Given the description of an element on the screen output the (x, y) to click on. 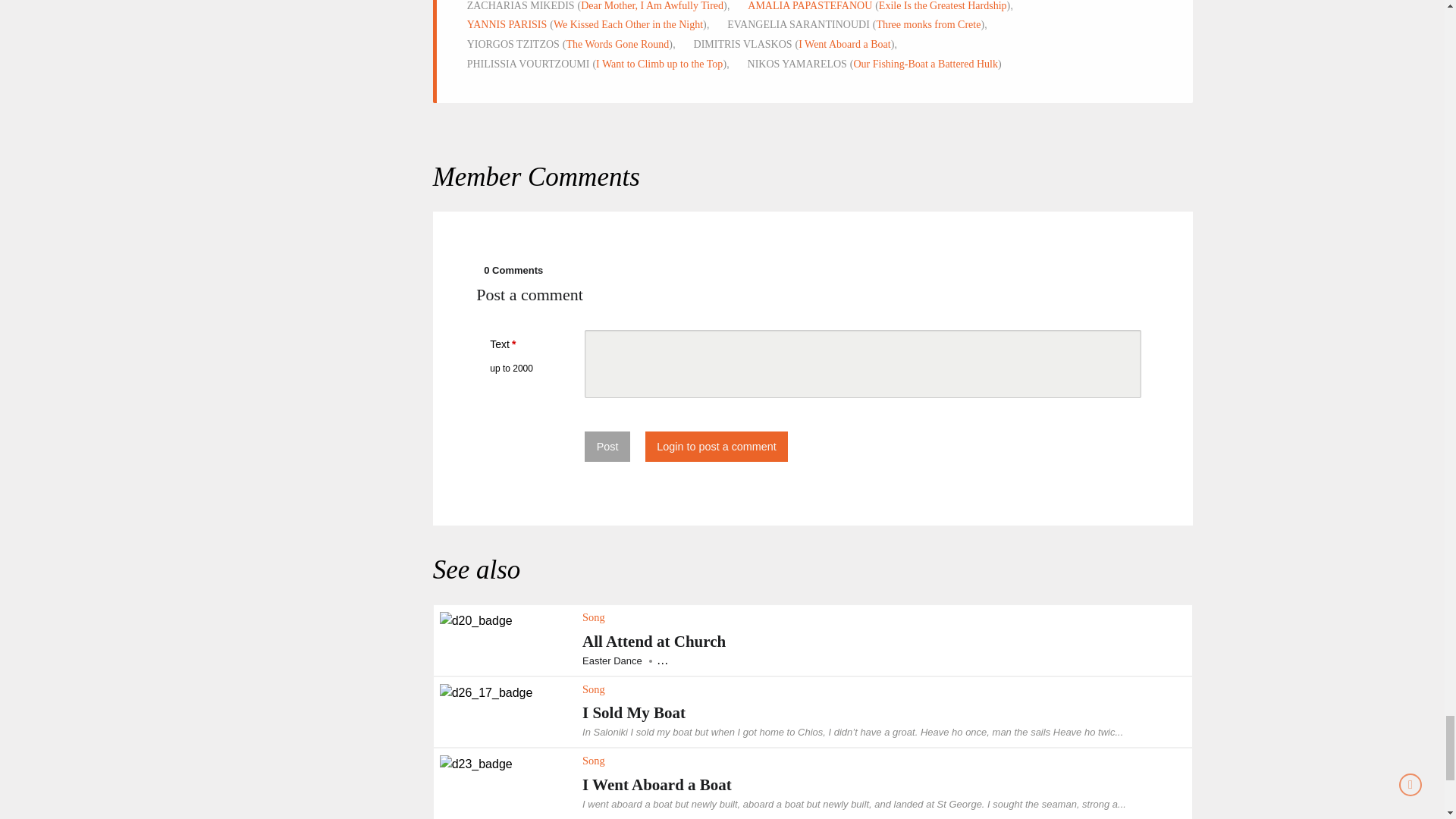
Post (607, 445)
